Given the description of an element on the screen output the (x, y) to click on. 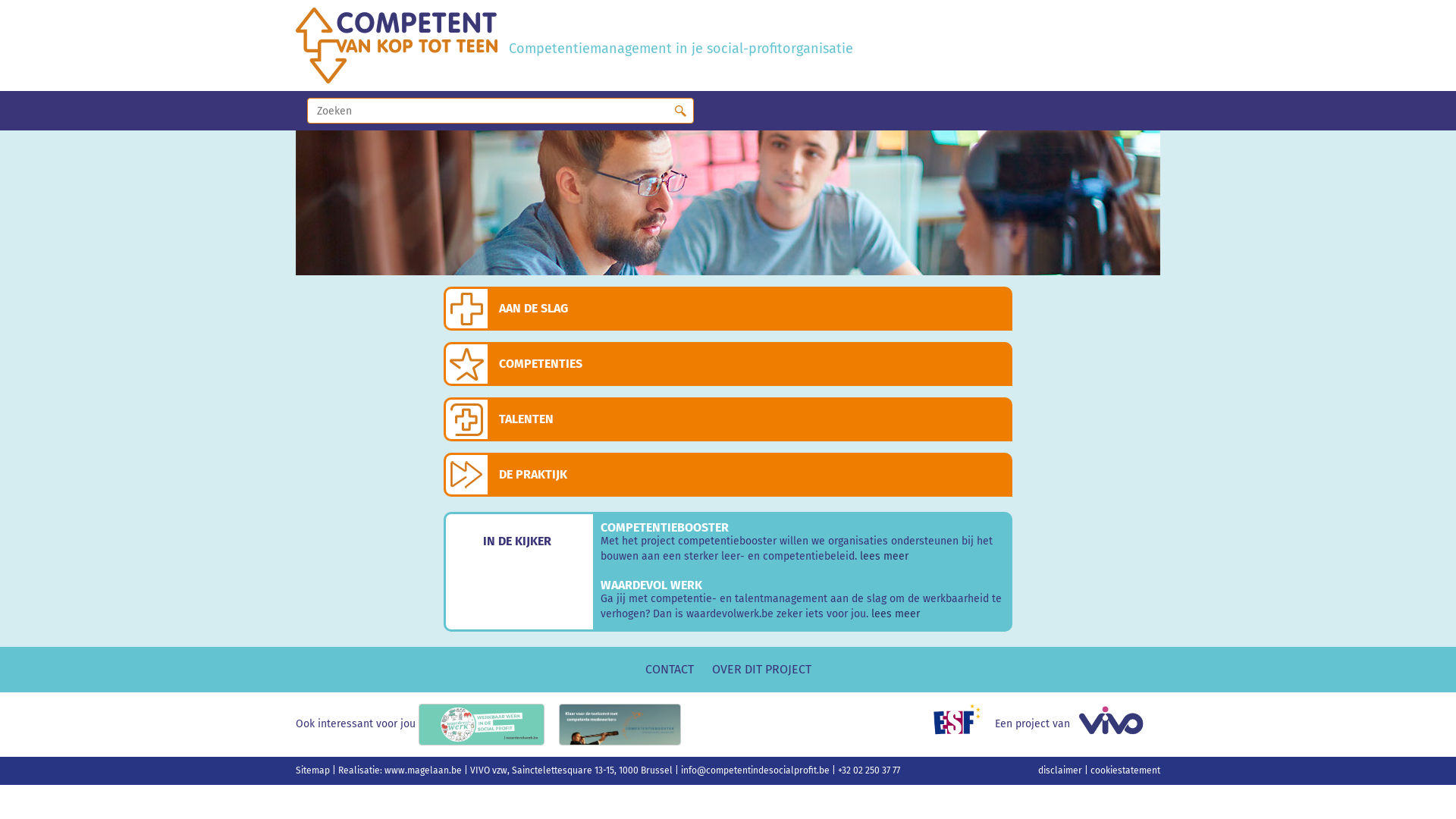
Sitemap Element type: text (313, 770)
www.esf-vlaanderen.be Element type: hover (962, 723)
lees meer Element type: text (894, 613)
cookiestatement Element type: text (1125, 770)
CONTACT Element type: text (670, 669)
COMPETENTIES Element type: text (519, 363)
www.magelaan.be Element type: text (424, 770)
www.vivosocialprofit.org Element type: hover (1116, 723)
TALENTEN Element type: text (505, 418)
lees meer Element type: text (883, 555)
AAN DE SLAG Element type: text (512, 308)
DE PRAKTIJK Element type: text (512, 474)
disclaimer Element type: text (1061, 770)
OVER DIT PROJECT Element type: text (760, 669)
info@competentindesocialprofit.be Element type: text (755, 770)
